Given the description of an element on the screen output the (x, y) to click on. 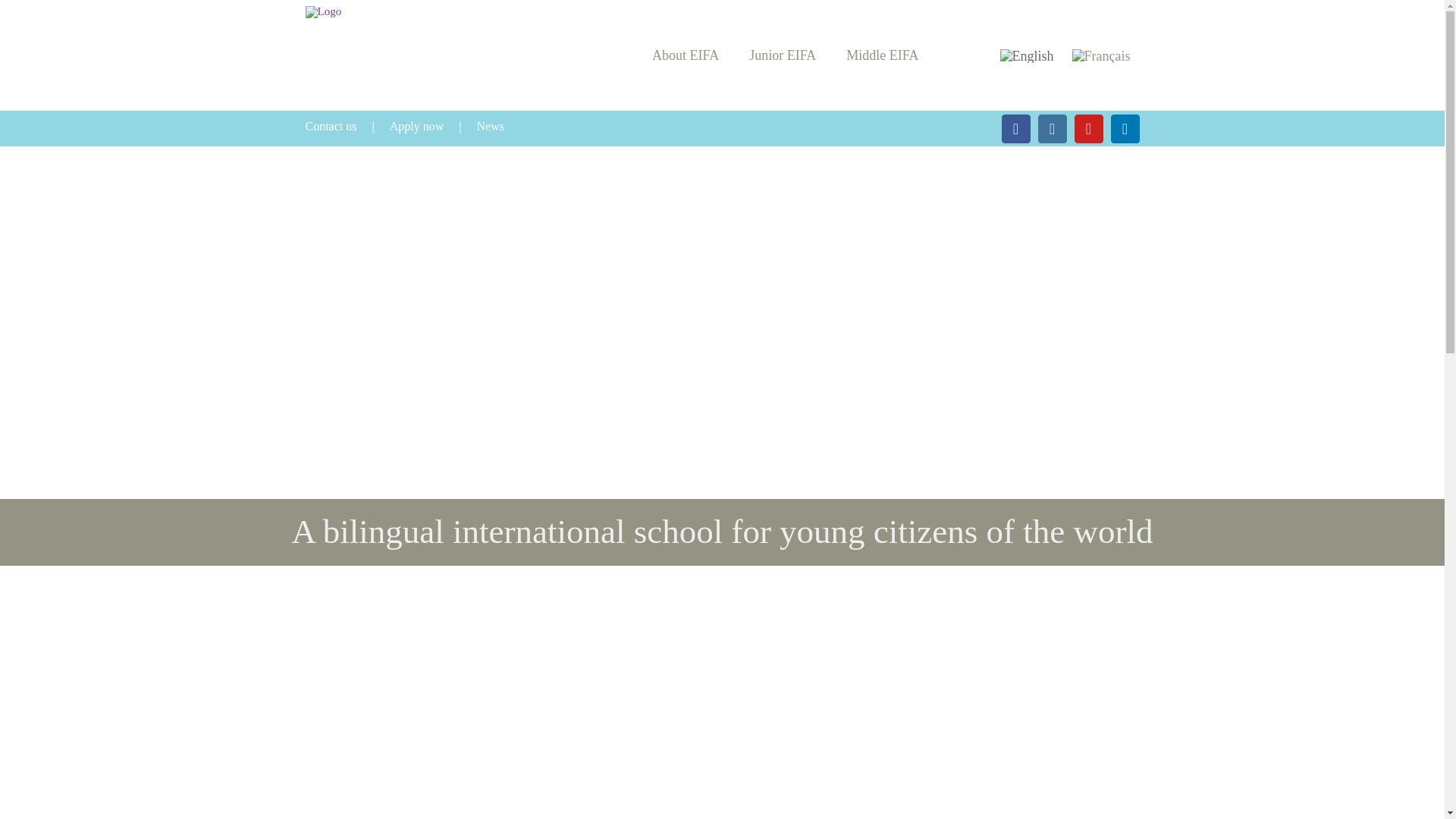
contact EIFA (346, 126)
YouTube (1088, 128)
apply to EIFA (433, 126)
LinkedIn (1123, 128)
Instagram (1050, 128)
Facebook (1015, 128)
